Given the description of an element on the screen output the (x, y) to click on. 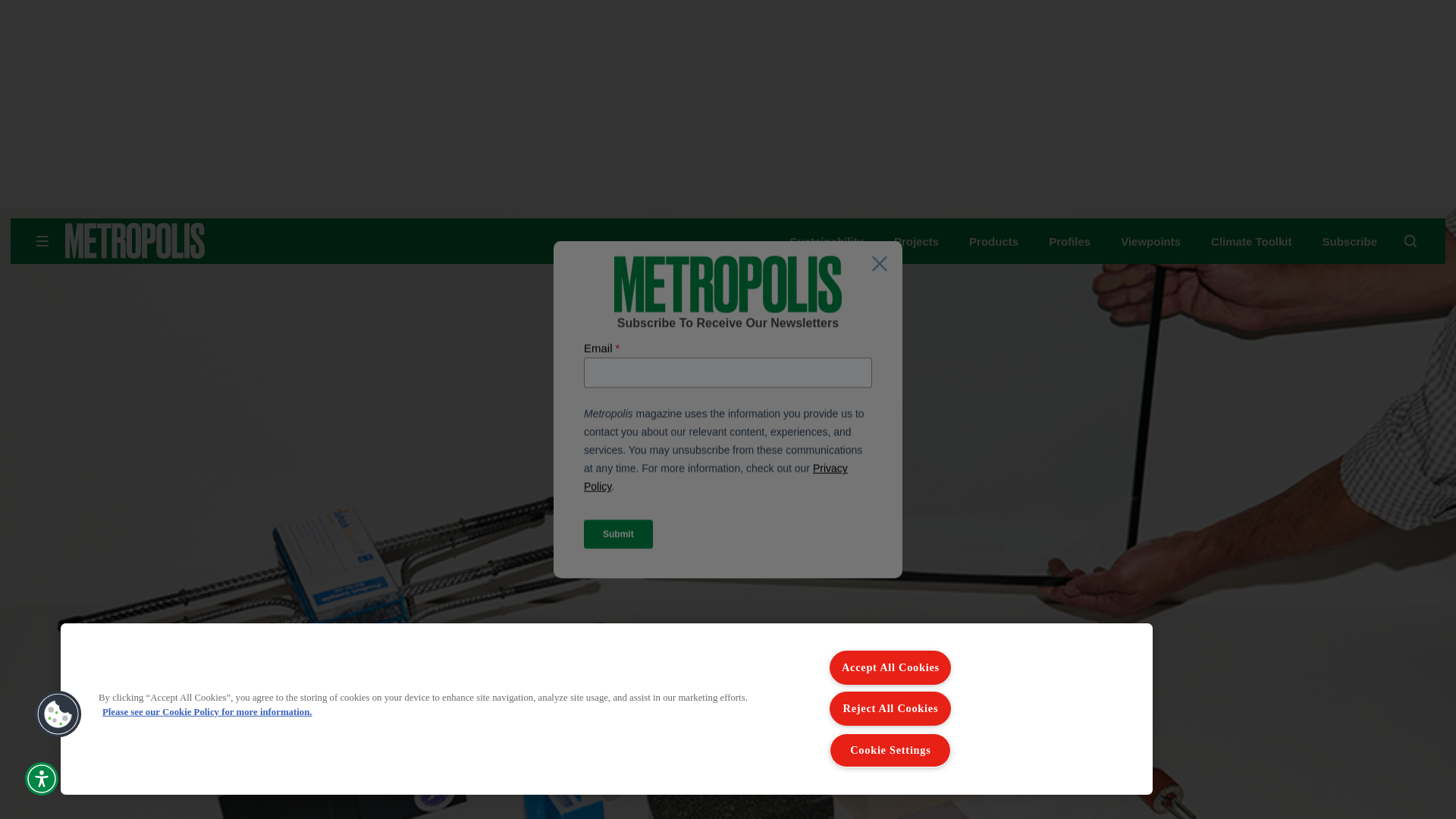
Profiles (1069, 241)
Climate Toolkit (1251, 241)
Viewpoints (1150, 241)
Projects (916, 241)
Popup CTA (727, 409)
Products (993, 241)
Cookies Button (57, 714)
Accessibility Menu (41, 778)
Subscribe (1349, 241)
Sustainability (826, 241)
METROPOLIS (181, 240)
